Given the description of an element on the screen output the (x, y) to click on. 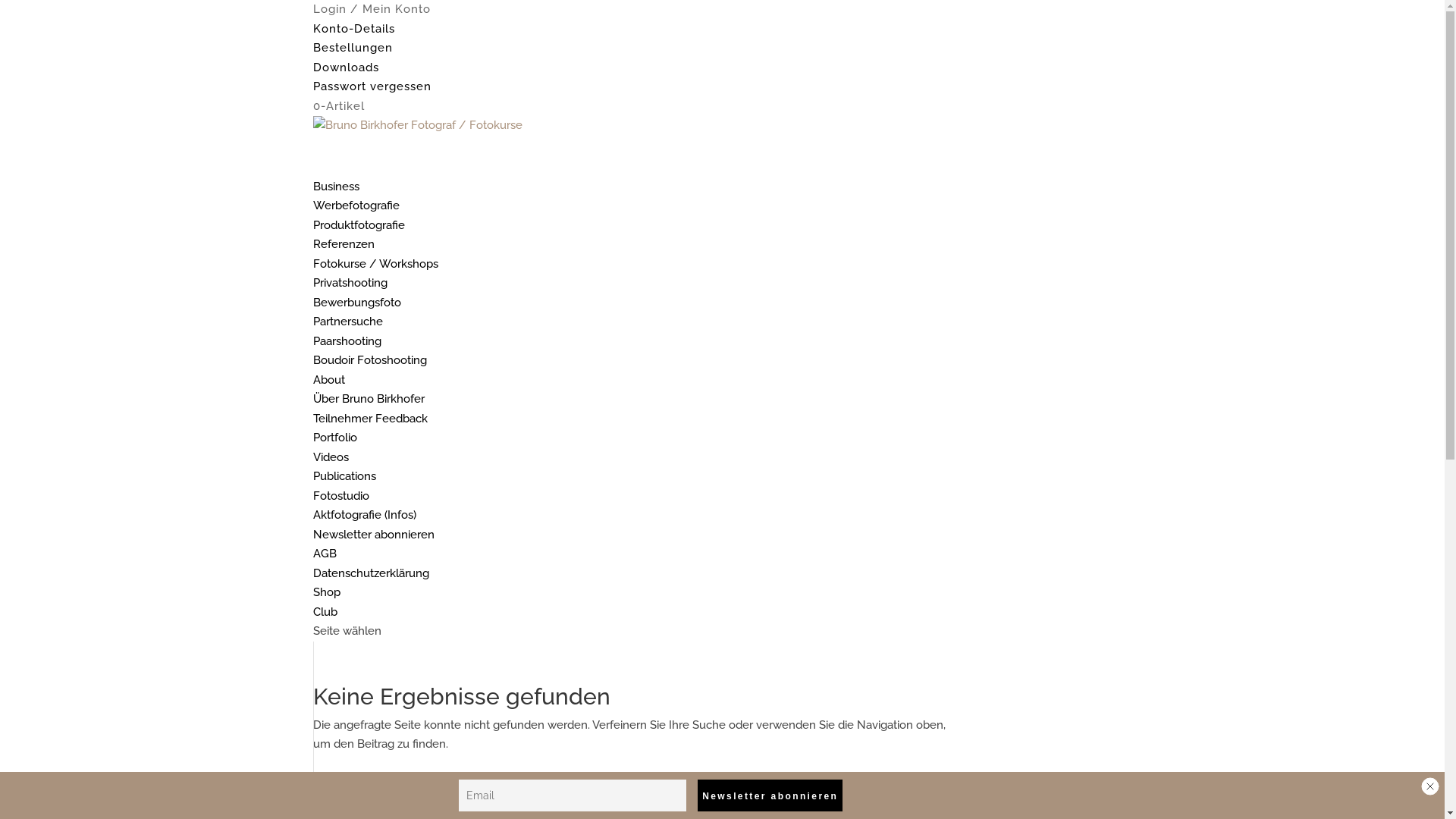
AGB Element type: text (323, 553)
Bewerbungsfoto Element type: text (356, 302)
Downloads Element type: text (345, 67)
Publications Element type: text (343, 476)
Konto-Details Element type: text (353, 27)
Bestellungen Element type: text (352, 47)
Privatshooting Element type: text (349, 296)
Portfolio Element type: text (334, 437)
Partnersuche Element type: text (347, 321)
Club Element type: text (324, 611)
Newsletter abonnieren Element type: text (372, 534)
Passwort vergessen Element type: text (371, 86)
Newsletter abonnieren Element type: text (769, 795)
Shop Element type: text (325, 605)
Business Element type: text (335, 198)
Videos Element type: text (330, 457)
Aktfotografie (Infos) Element type: text (363, 514)
Produktfotografie Element type: text (358, 225)
Boudoir Fotoshooting Element type: text (369, 360)
Referenzen Element type: text (342, 244)
Teilnehmer Feedback Element type: text (369, 417)
Paarshooting Element type: text (346, 340)
Facebook Element type: text (344, 805)
Fotostudio Element type: text (340, 495)
Login / Mein Konto Element type: text (370, 8)
0-Artikel Element type: text (338, 105)
Werbefotografie Element type: text (355, 205)
About Element type: text (328, 393)
Fotokurse / Workshops Element type: text (374, 276)
